Given the description of an element on the screen output the (x, y) to click on. 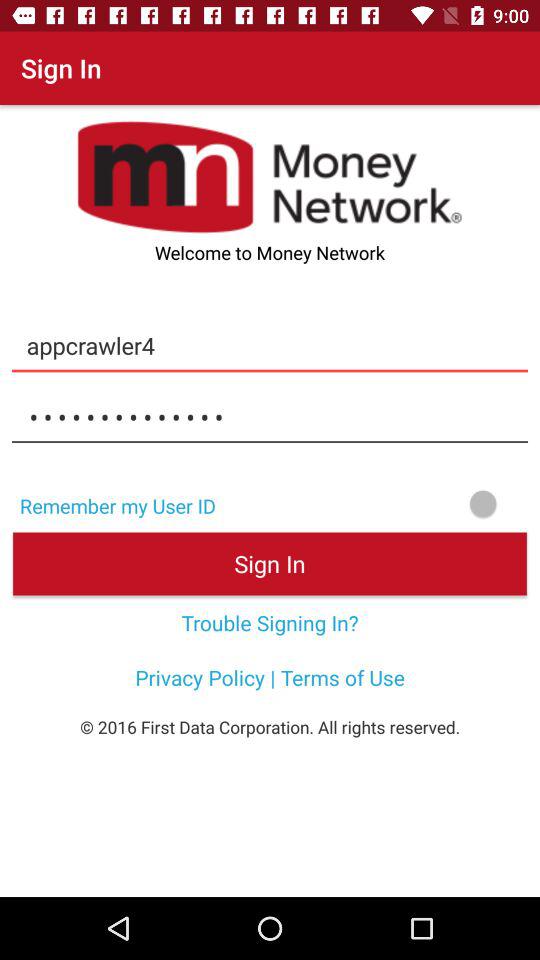
turn off item below the welcome to money icon (269, 345)
